Given the description of an element on the screen output the (x, y) to click on. 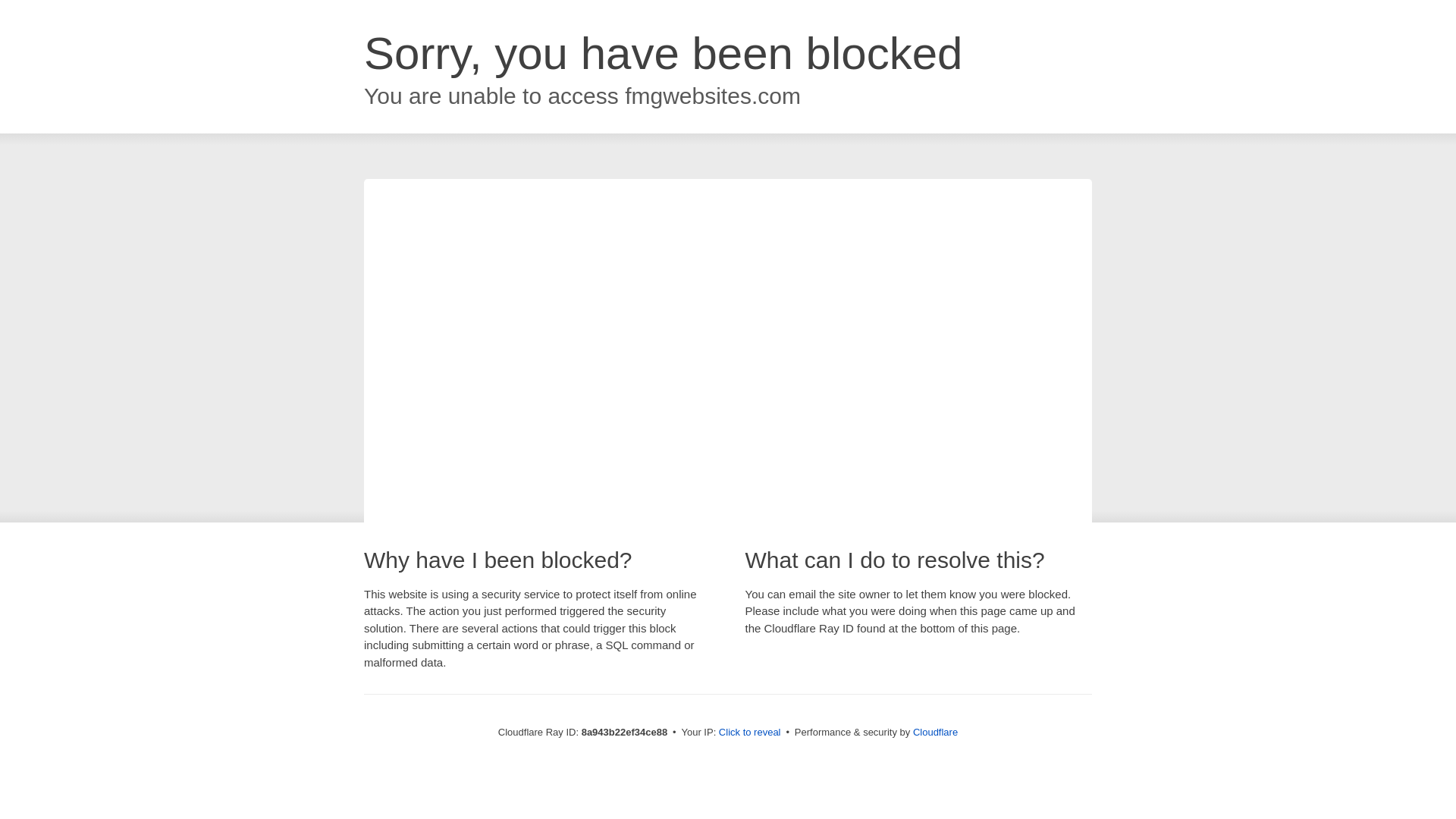
Click to reveal (749, 732)
Cloudflare (935, 731)
